Given the description of an element on the screen output the (x, y) to click on. 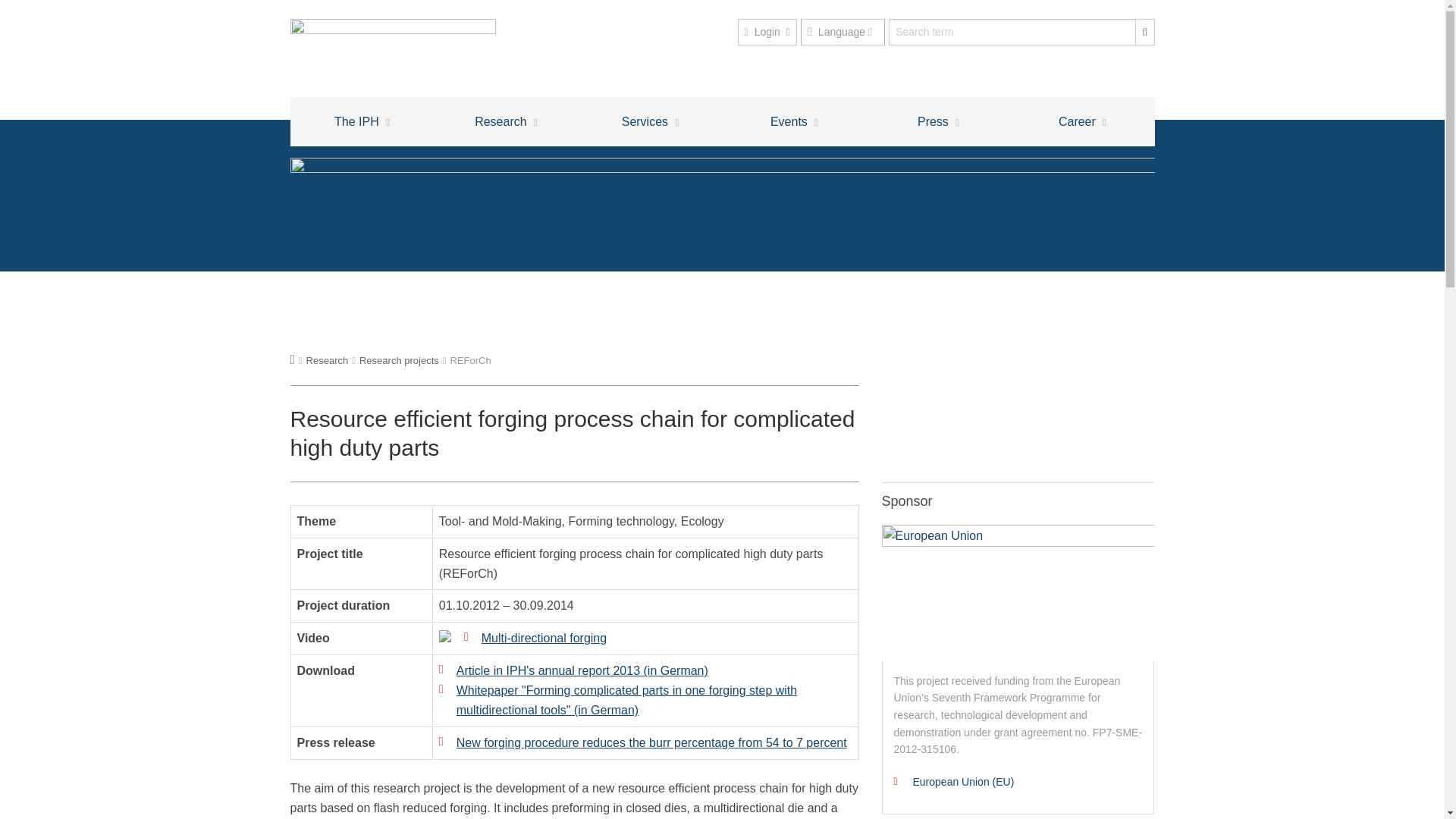
Login (766, 31)
European Union (1017, 592)
The IPH (361, 121)
Events (794, 121)
Research (505, 121)
Sprache (842, 31)
Services (842, 31)
